Given the description of an element on the screen output the (x, y) to click on. 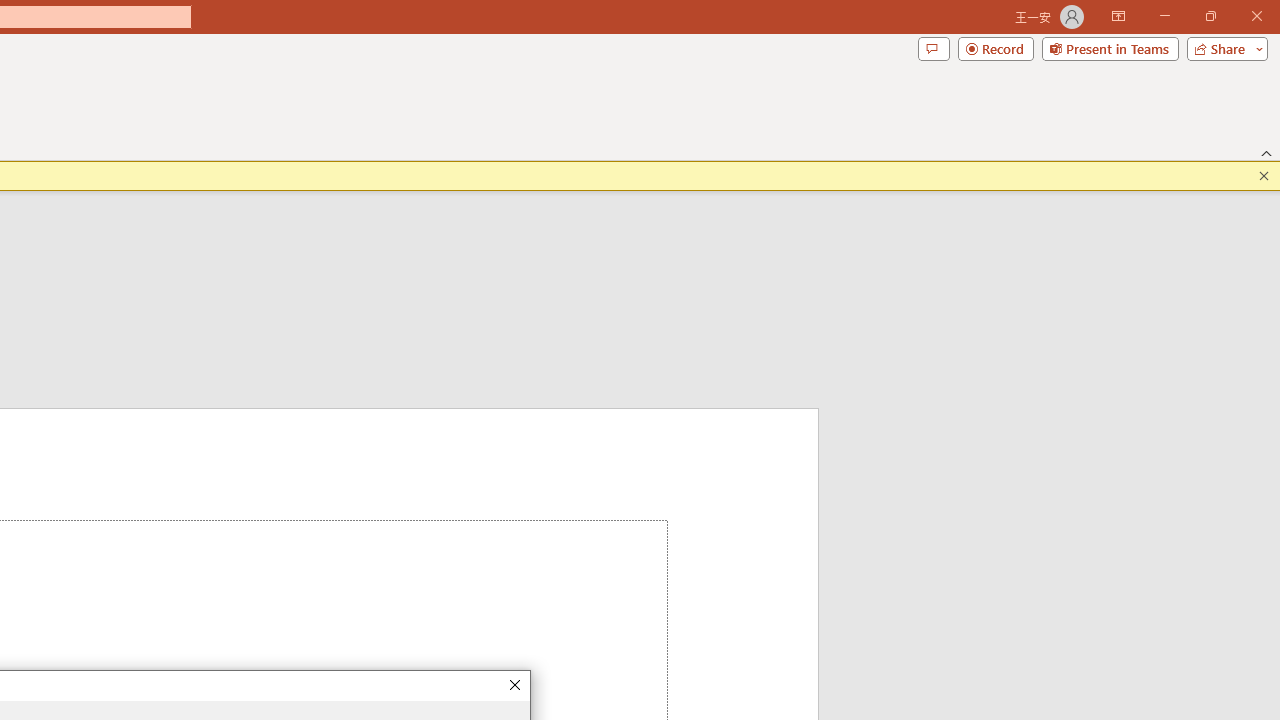
Close this message (1263, 176)
